Given the description of an element on the screen output the (x, y) to click on. 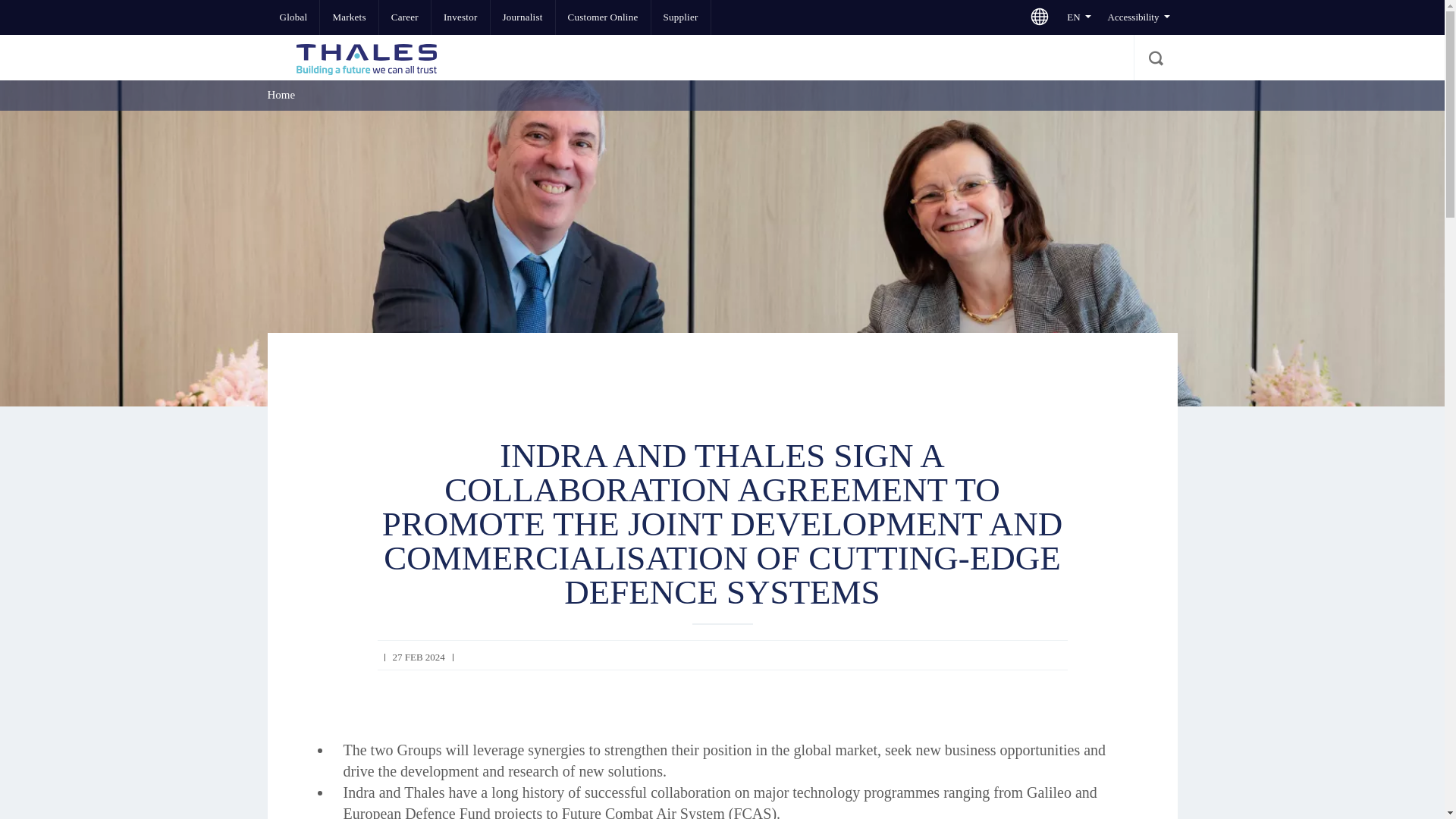
Customer Online (603, 17)
Global (292, 17)
EN (1077, 17)
Search (1154, 57)
Markets (348, 17)
Investor (459, 17)
Journalist (521, 17)
Supplier (680, 17)
Accessibility (1138, 17)
Career (404, 17)
Home (280, 94)
